Given the description of an element on the screen output the (x, y) to click on. 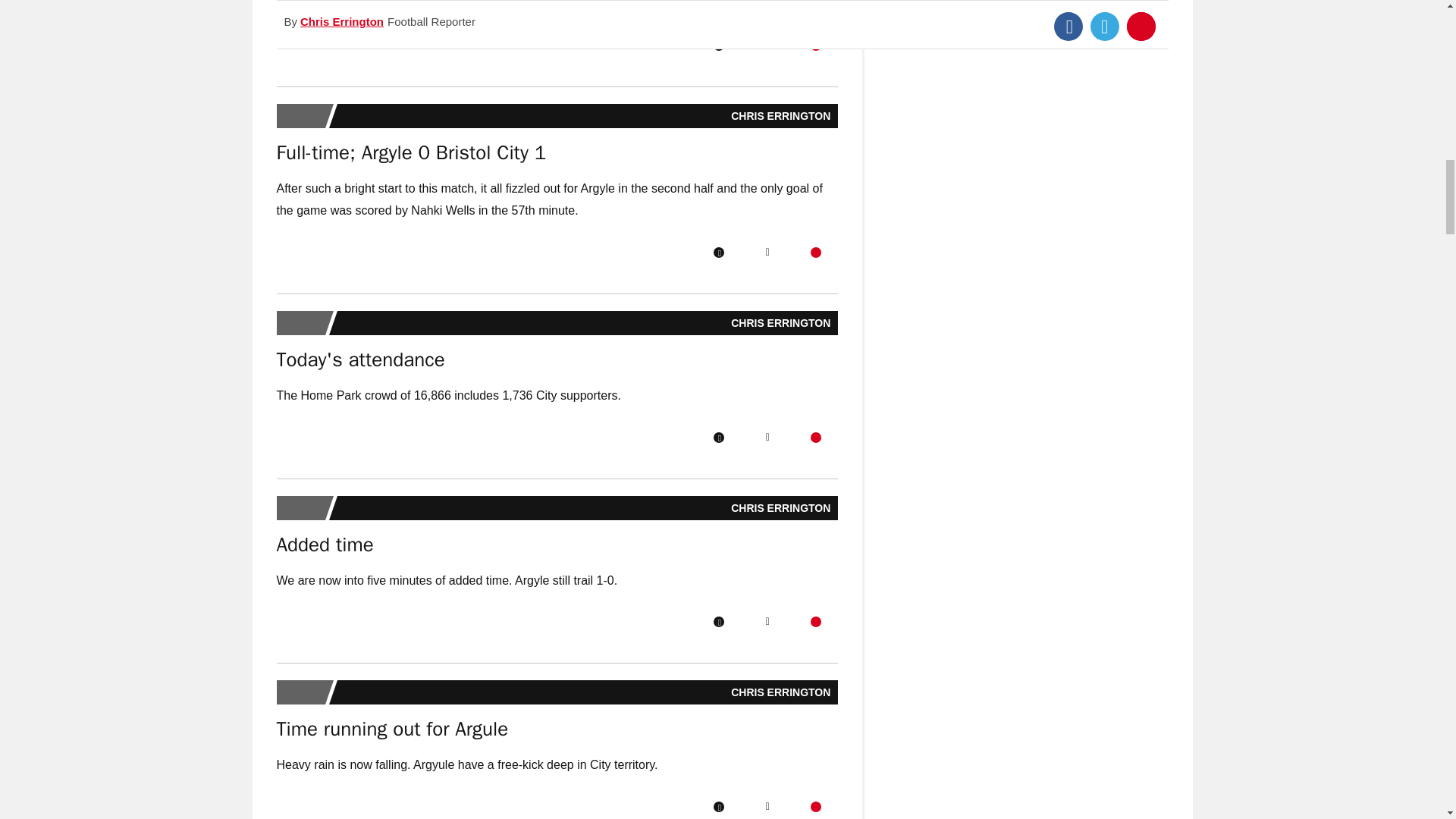
Twitter (767, 437)
Facebook (718, 621)
Facebook (718, 437)
Facebook (718, 45)
Twitter (767, 45)
Twitter (767, 252)
Facebook (718, 252)
